Given the description of an element on the screen output the (x, y) to click on. 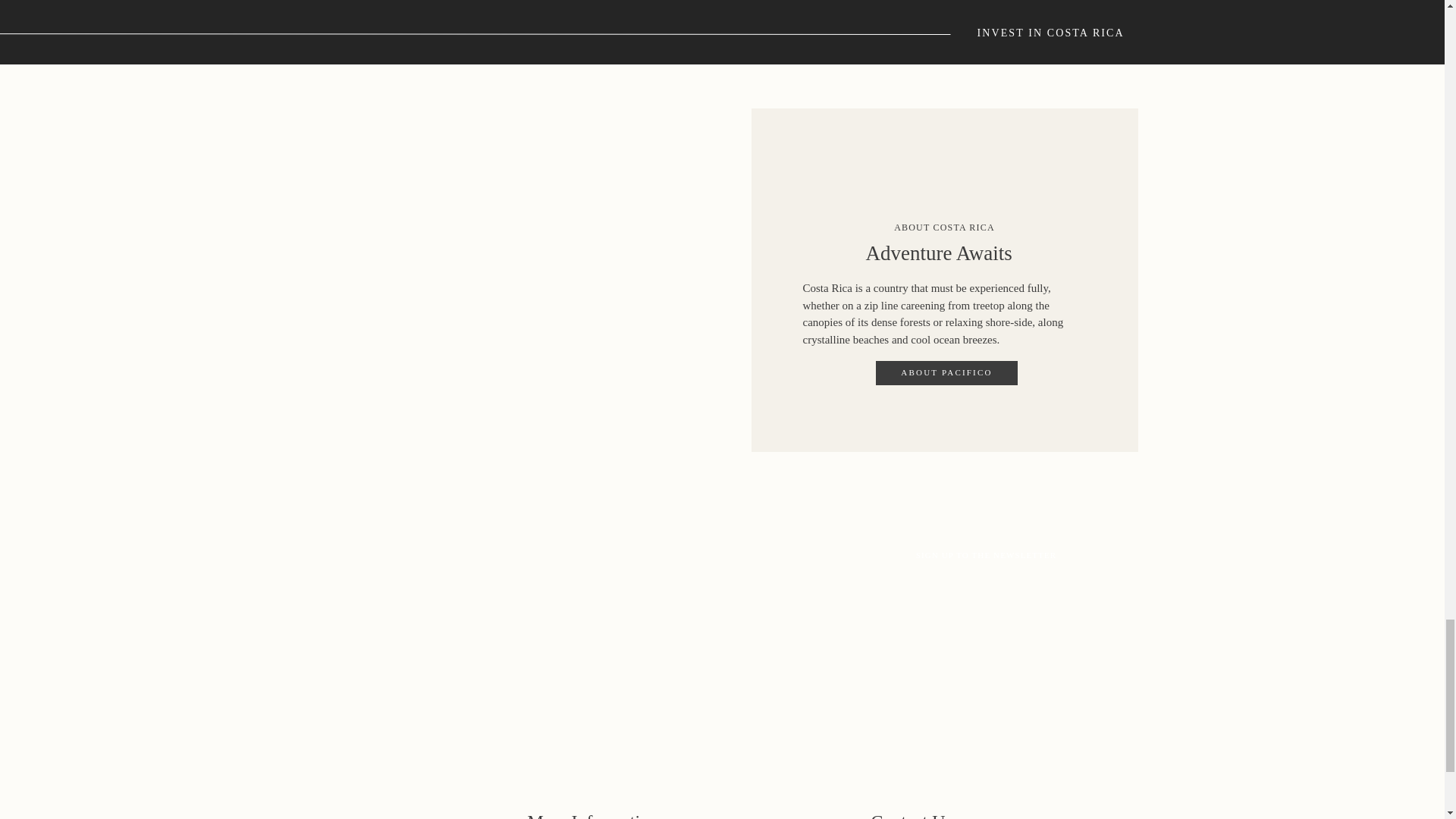
SIGN UP TO THE NEWSLETTER (985, 553)
ABOUT PACIFICO (946, 371)
